Given the description of an element on the screen output the (x, y) to click on. 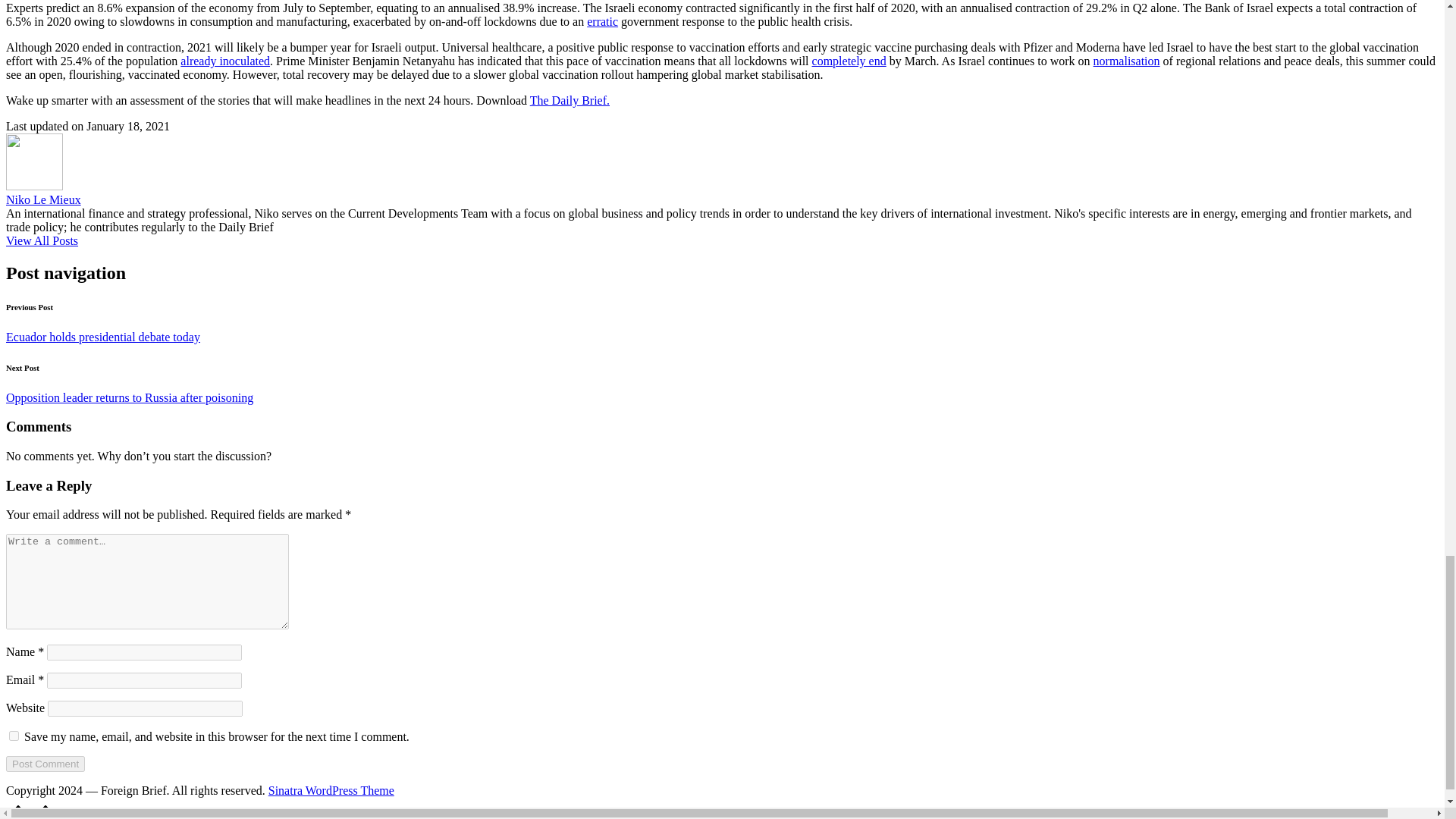
yes (13, 736)
Post Comment (44, 763)
